Given the description of an element on the screen output the (x, y) to click on. 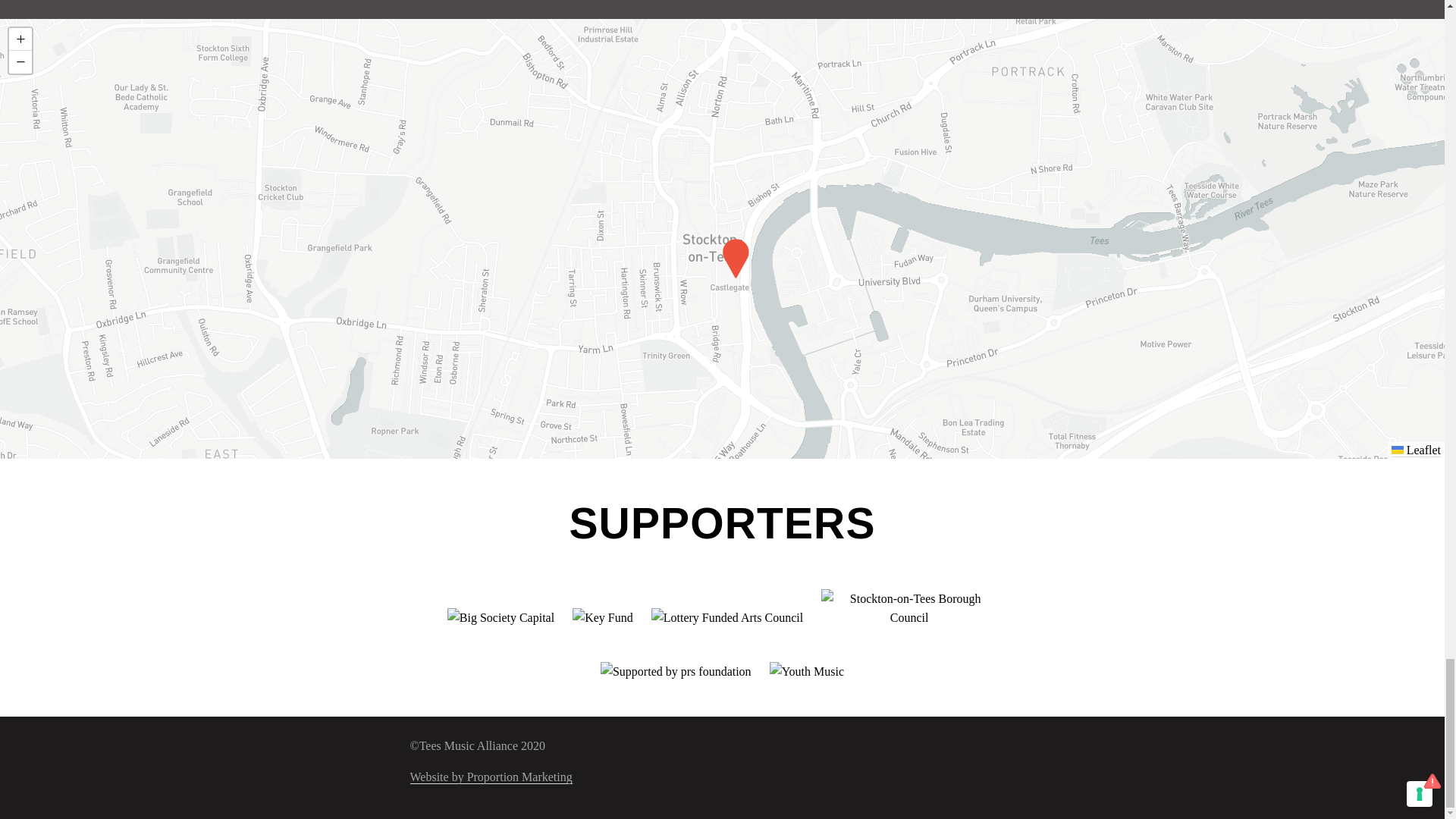
Website by Proportion Marketing (490, 776)
Leaflet (1416, 450)
Zoom out (20, 61)
A JavaScript library for interactive maps (1416, 450)
Zoom in (20, 38)
